Given the description of an element on the screen output the (x, y) to click on. 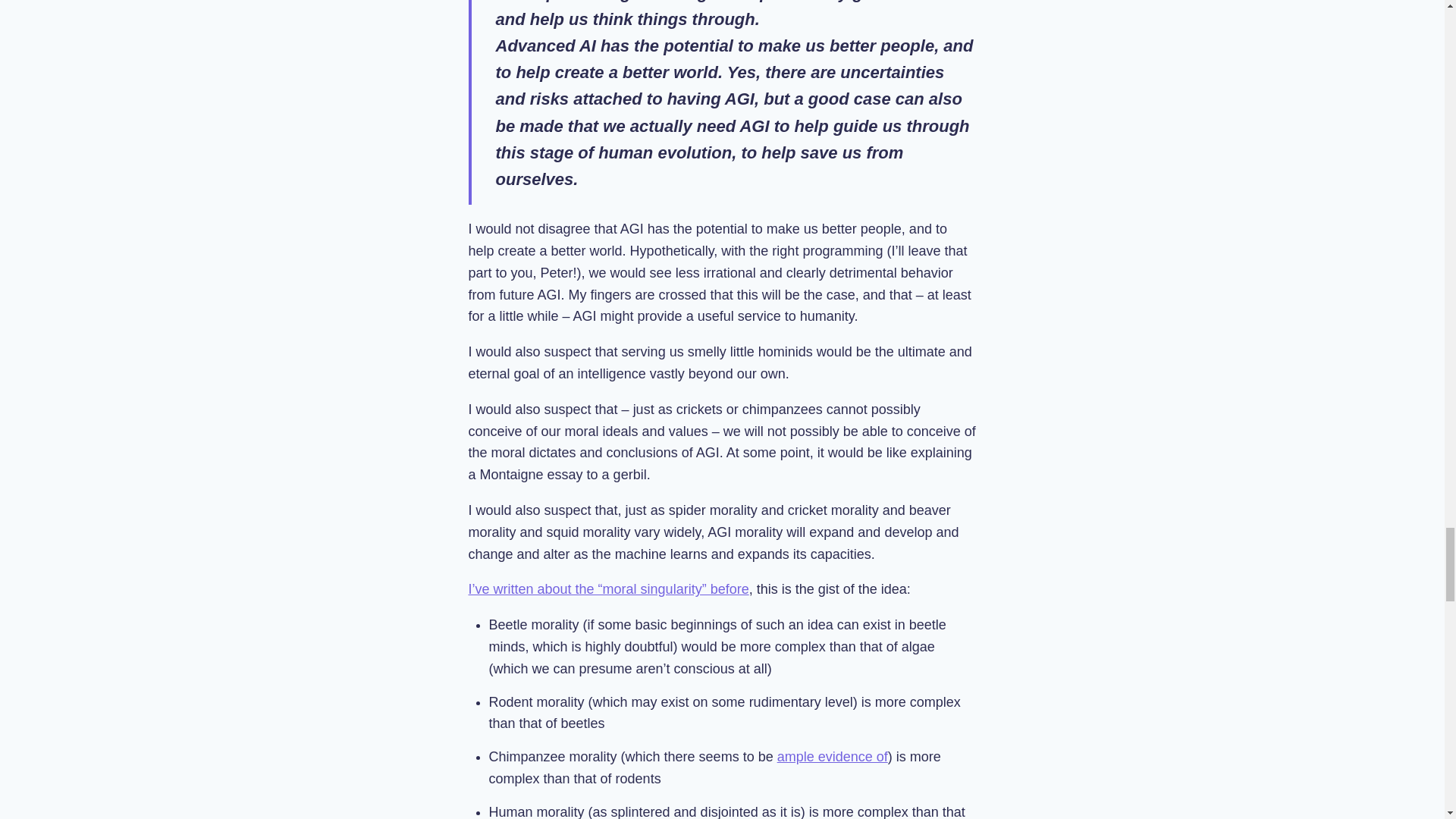
ample evidence of (832, 756)
